Given the description of an element on the screen output the (x, y) to click on. 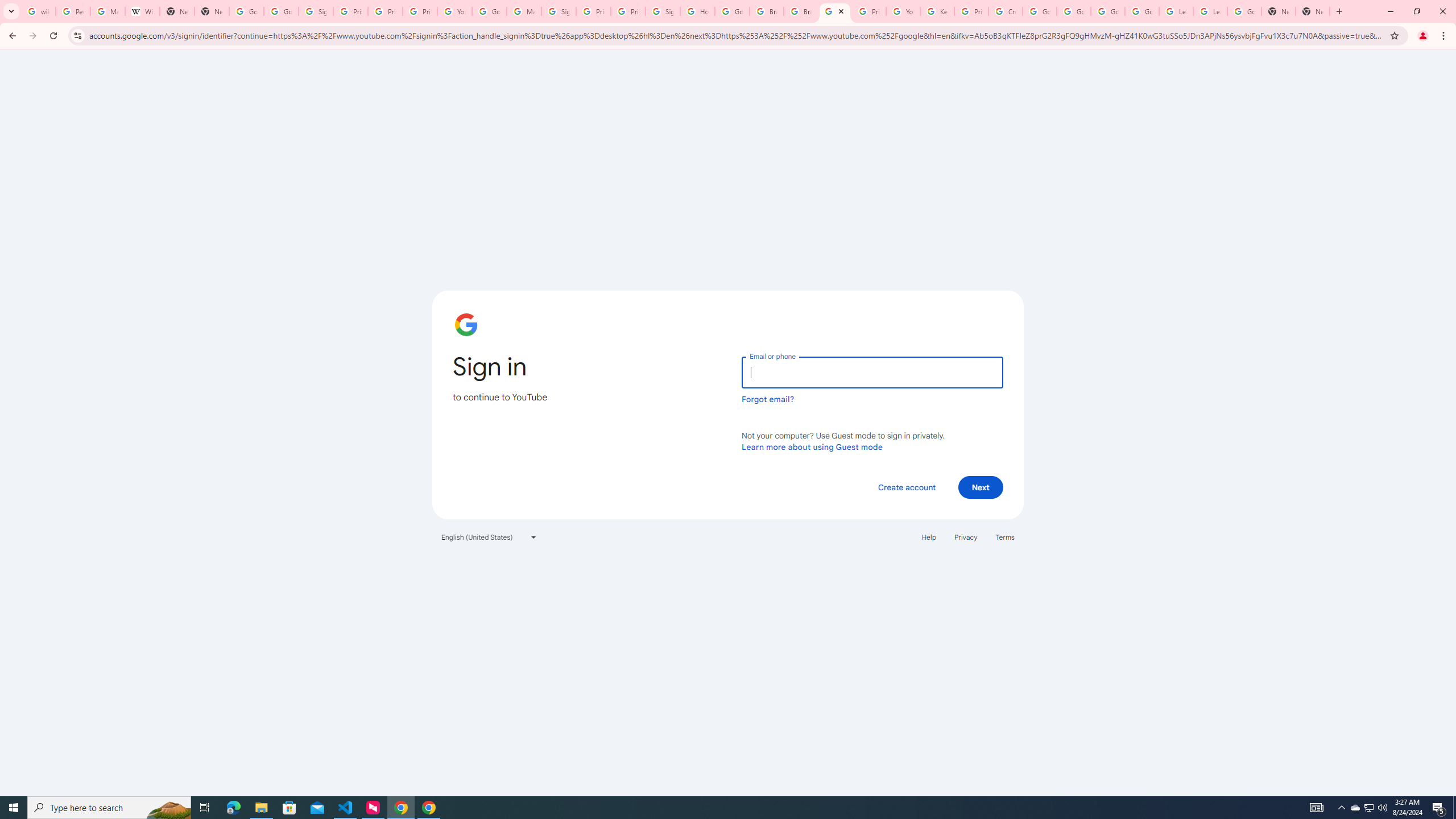
YouTube (454, 11)
Google Account Help (1073, 11)
Manage your Location History - Google Search Help (107, 11)
Brand Resource Center (766, 11)
Email or phone (871, 372)
